Given the description of an element on the screen output the (x, y) to click on. 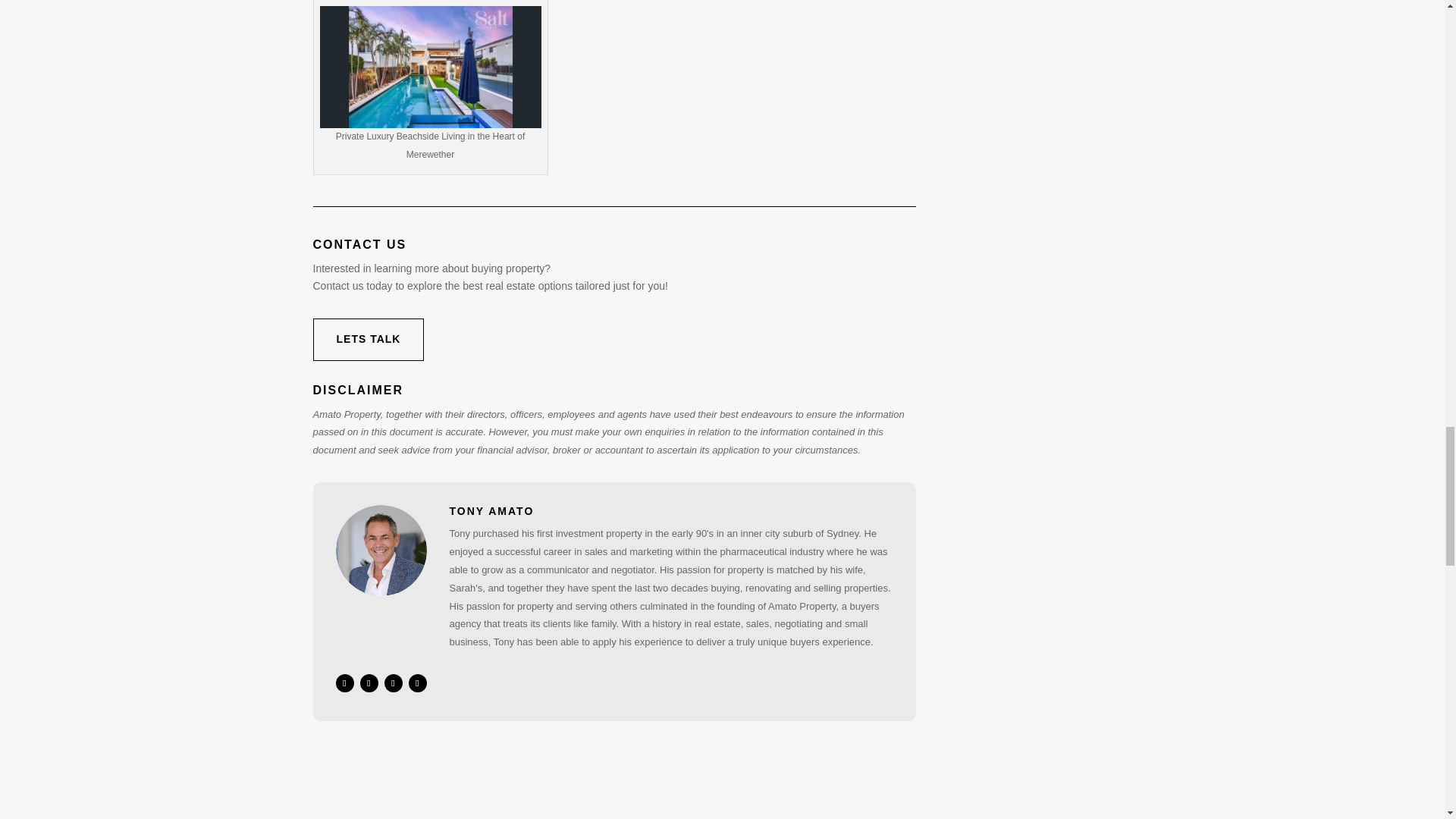
Follow on Youtube (416, 683)
LETS TALK (368, 339)
Follow on Instagram (392, 683)
Follow on LinkedIn (368, 683)
Follow on Facebook (343, 683)
